Given the description of an element on the screen output the (x, y) to click on. 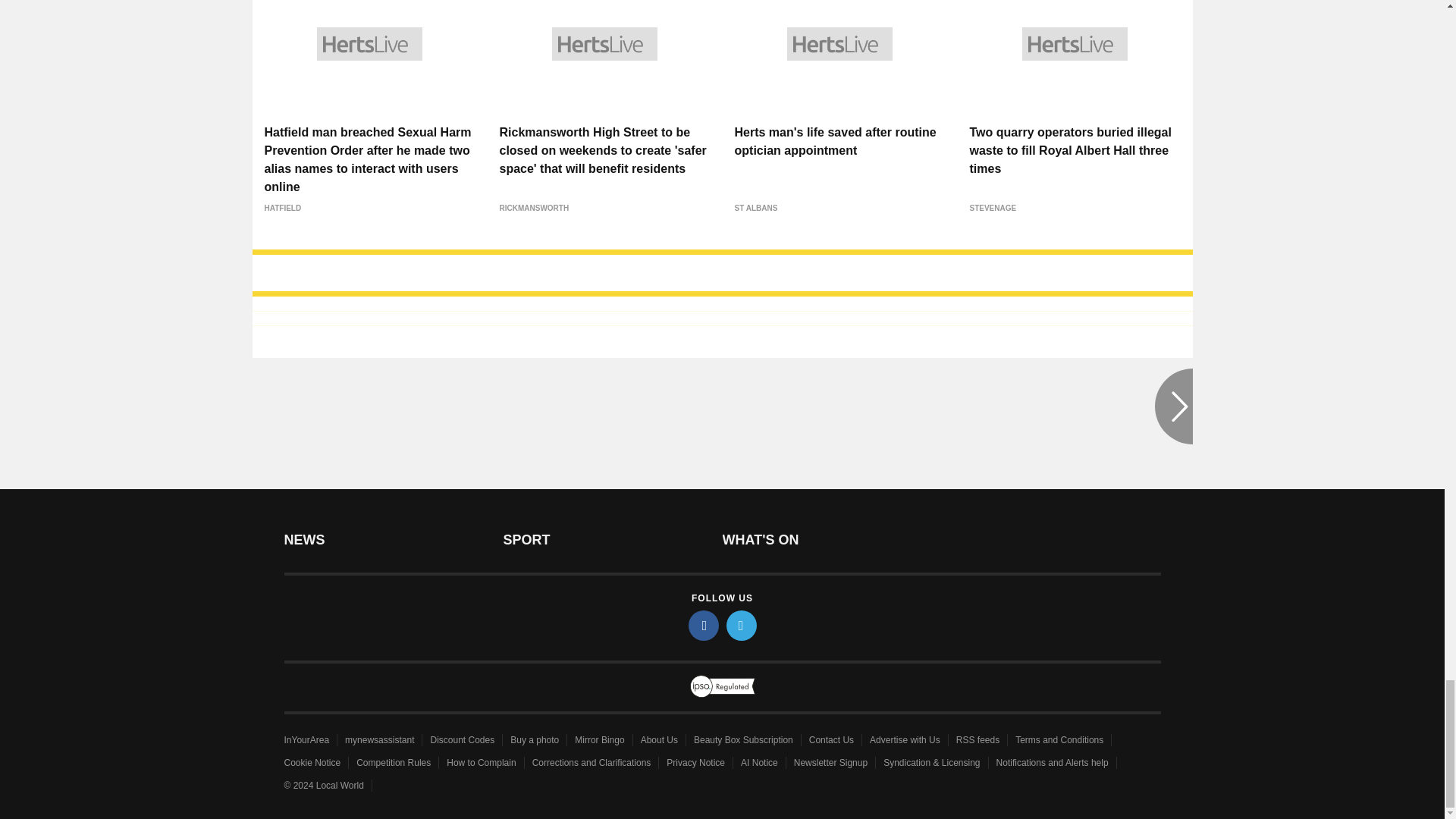
twitter (741, 625)
facebook (703, 625)
